Given the description of an element on the screen output the (x, y) to click on. 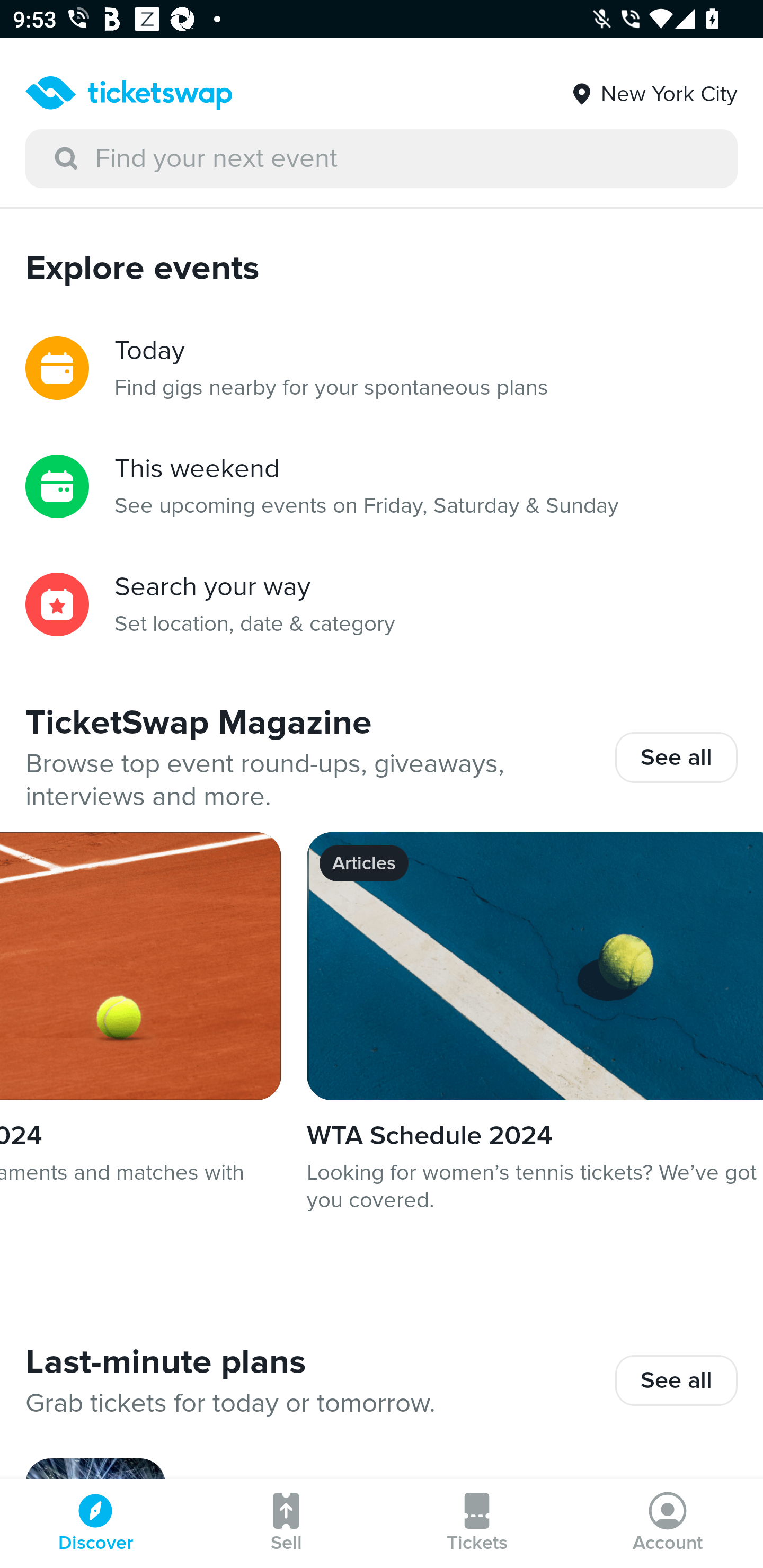
New York City (653, 87)
Find your next event (381, 158)
Today Find gigs nearby for your spontaneous plans (381, 367)
Search your way Set location, date & category (381, 604)
See all (675, 756)
See all (675, 1380)
Sell (285, 1523)
Tickets (476, 1523)
Account (667, 1523)
